Given the description of an element on the screen output the (x, y) to click on. 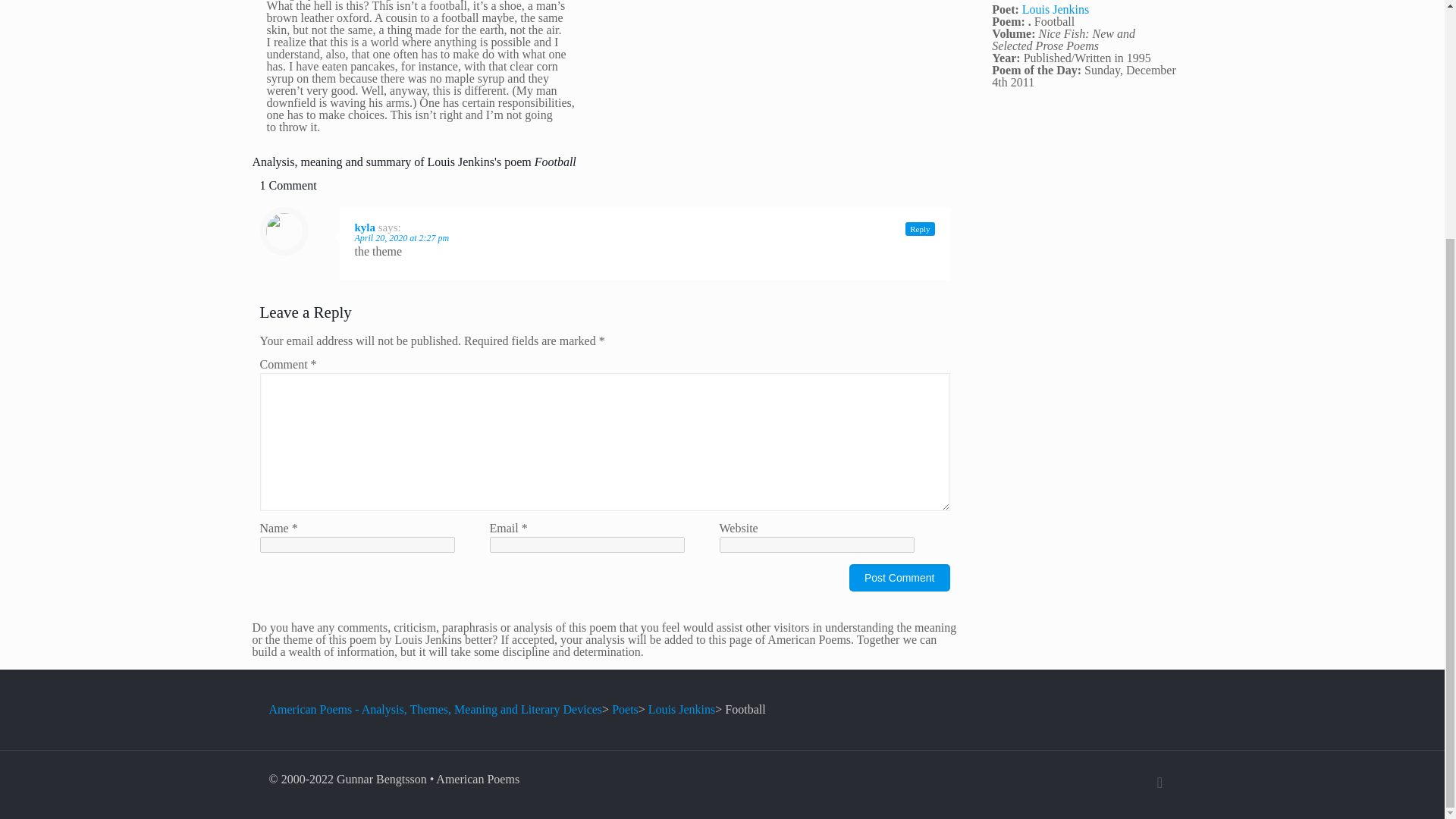
kyla (365, 227)
Louis Jenkins (1055, 9)
Post Comment (899, 577)
Louis Jenkins (680, 708)
Poets (625, 708)
April 20, 2020 at 2:27 pm (402, 237)
Go to Louis Jenkins. (680, 708)
Go to Poets. (625, 708)
